Given the description of an element on the screen output the (x, y) to click on. 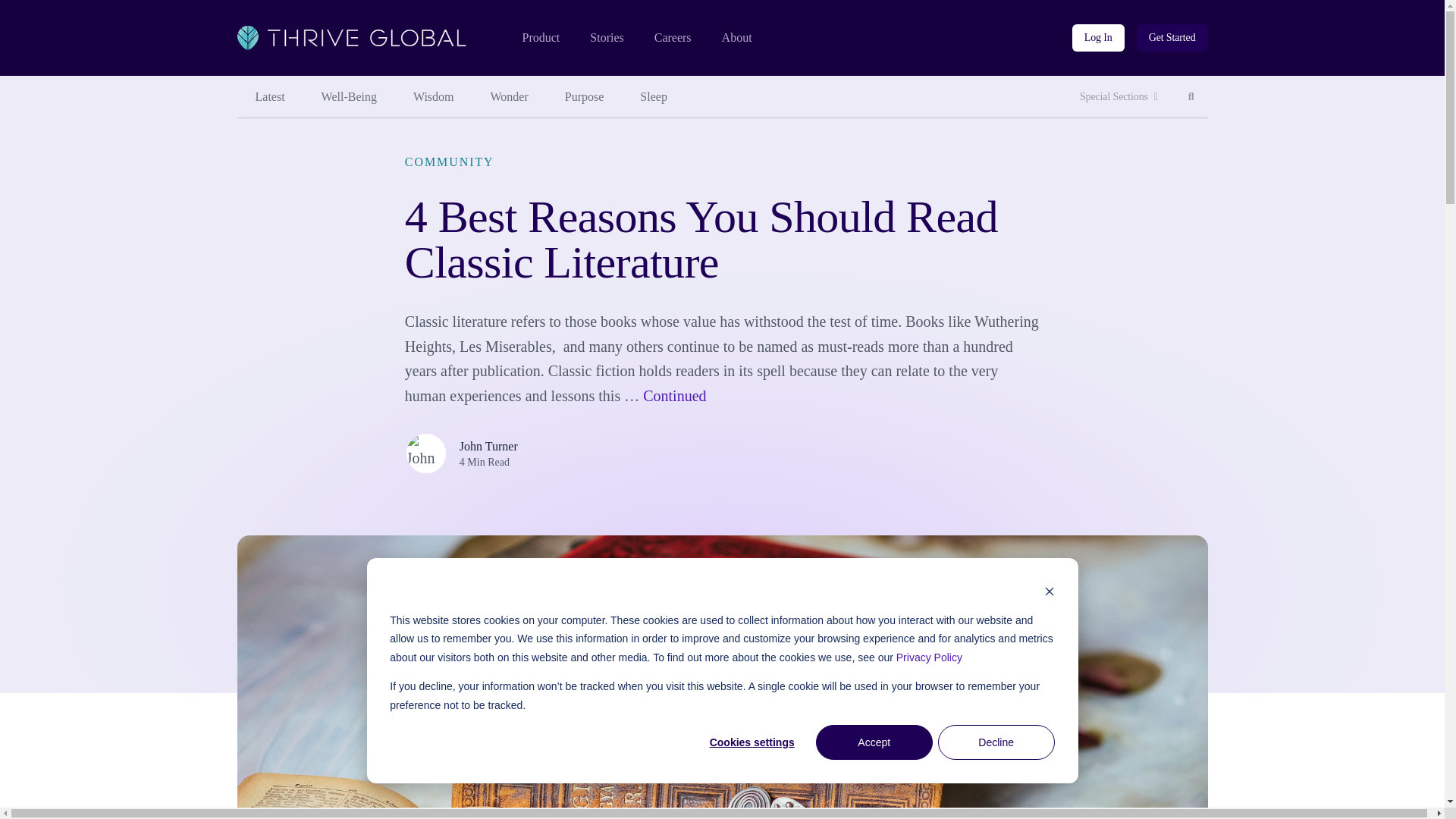
Careers (672, 37)
Stories (606, 37)
Log In (1097, 37)
About (737, 37)
Special Sections (1191, 97)
Get Started (1118, 97)
Wisdom (1172, 37)
Product (432, 96)
Well-Being (540, 37)
